Given the description of an element on the screen output the (x, y) to click on. 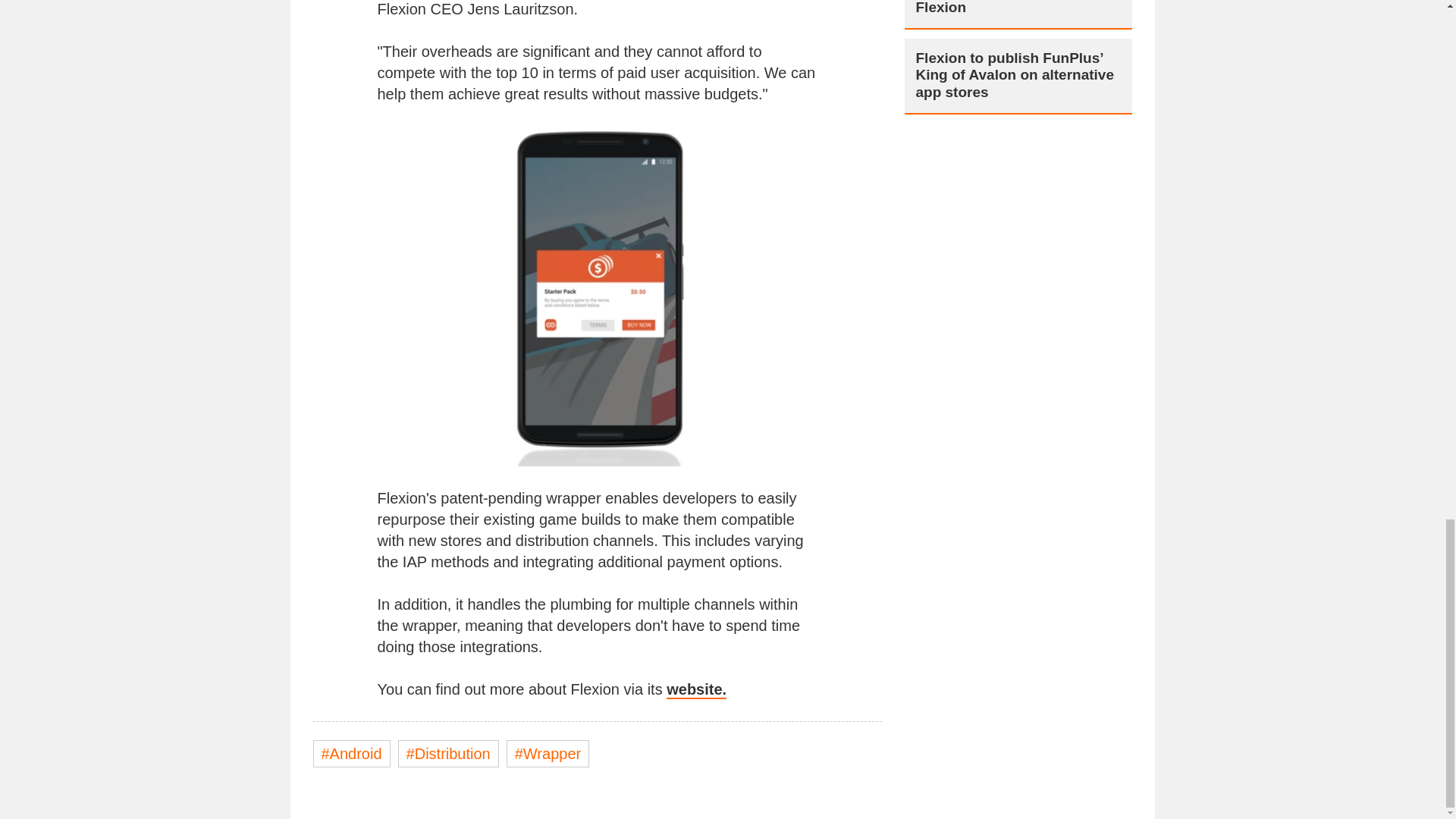
website. (696, 689)
